Given the description of an element on the screen output the (x, y) to click on. 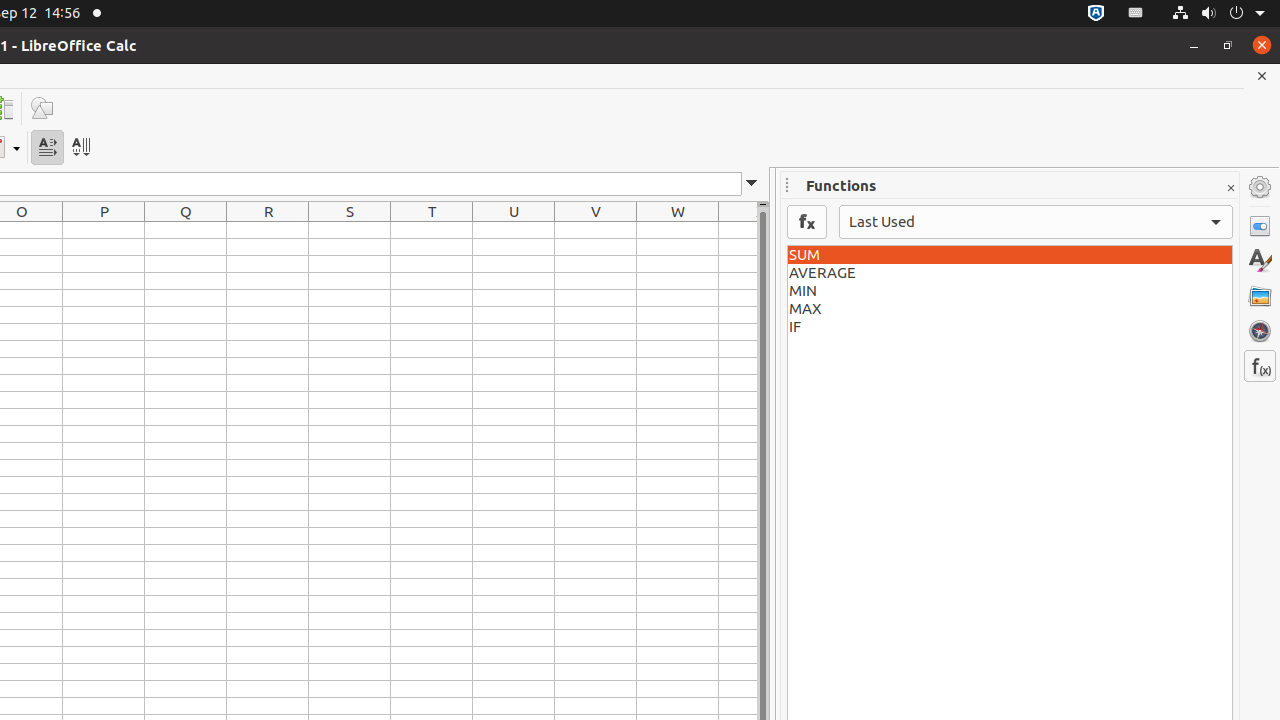
Gallery Element type: radio-button (1260, 296)
